Given the description of an element on the screen output the (x, y) to click on. 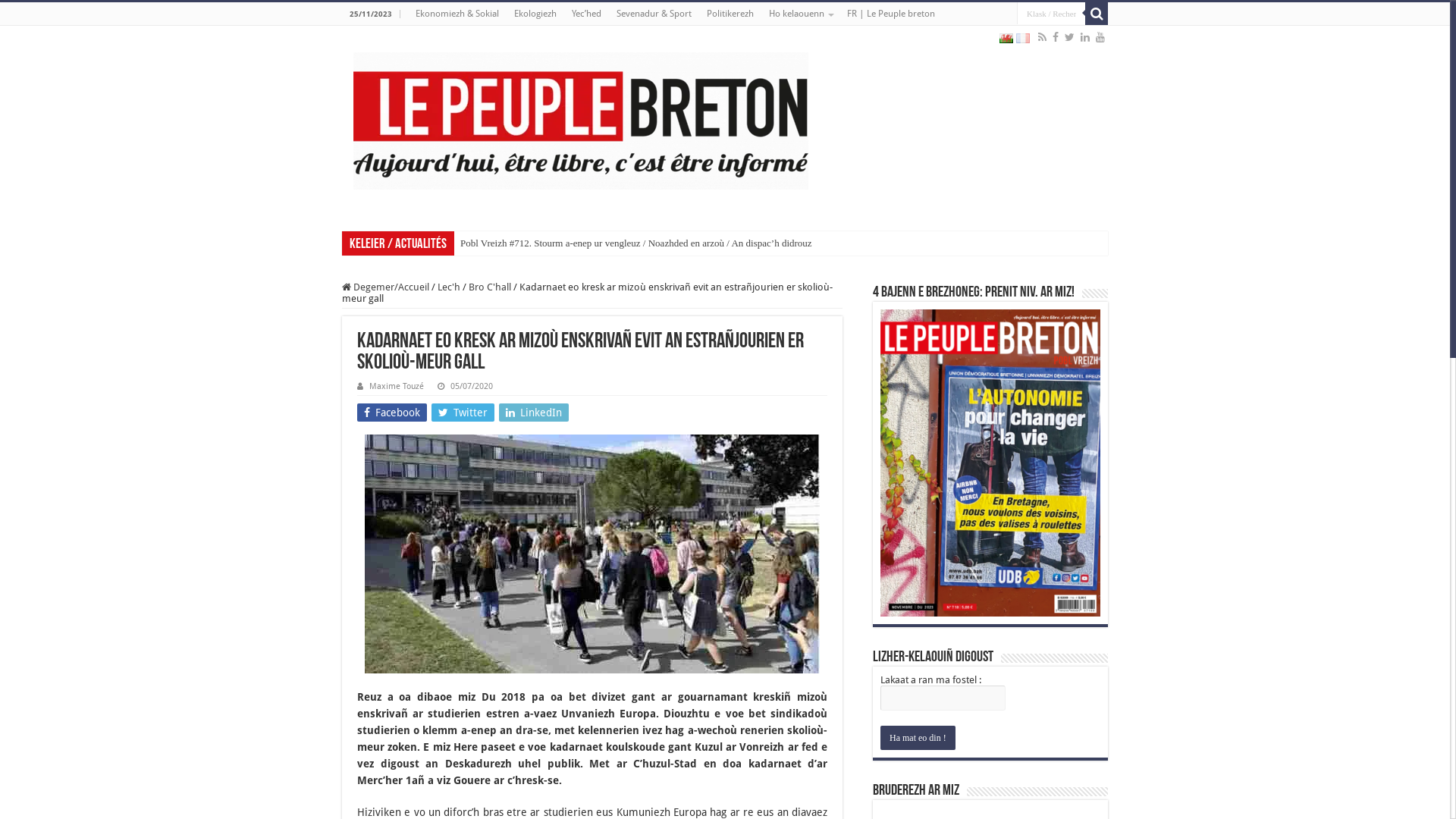
Klask / Rechercher Element type: text (1096, 13)
Facebook Element type: text (391, 412)
Ekologiezh Element type: text (535, 13)
Le Peuple breton Magazine Element type: hover (580, 118)
Politikerezh Element type: text (730, 13)
LinkedIn Element type: text (533, 412)
LinkedIn Element type: hover (1085, 37)
Rss Element type: hover (1042, 37)
Ho kelaouenn Element type: text (800, 13)
Facebook Element type: hover (1055, 37)
Twitter Element type: hover (1069, 37)
Youtube Element type: hover (1100, 37)
FR | Le Peuple breton Element type: text (890, 13)
Twitter Element type: text (462, 412)
Degemer/Accueil Element type: text (385, 286)
Bro C'hall Element type: text (489, 286)
Ha mat eo din ! Element type: text (917, 737)
Ekonomiezh & Sokial Element type: text (456, 13)
Klask / Rechercher Element type: hover (1050, 13)
Sevenadur & Sport Element type: text (653, 13)
Lec'h Element type: text (448, 286)
